Given the description of an element on the screen output the (x, y) to click on. 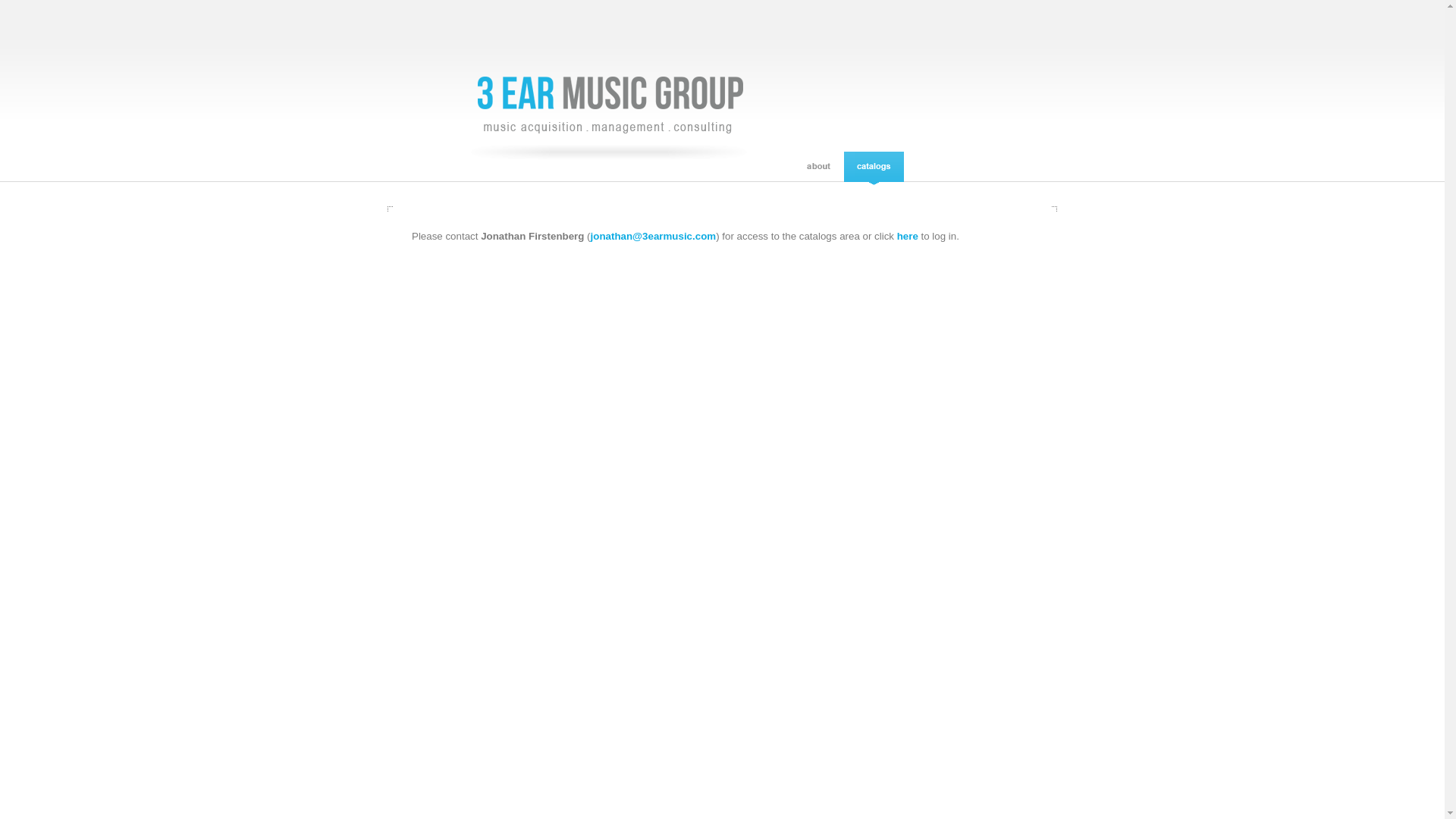
3 Ear Music Group Catalogs Element type: hover (873, 166)
jonathan@3earmusic.com Element type: text (653, 235)
Contact 3 Ear Music Group Element type: hover (932, 166)
here Element type: text (907, 235)
About 3 Ear Music Group Element type: hover (818, 166)
